Given the description of an element on the screen output the (x, y) to click on. 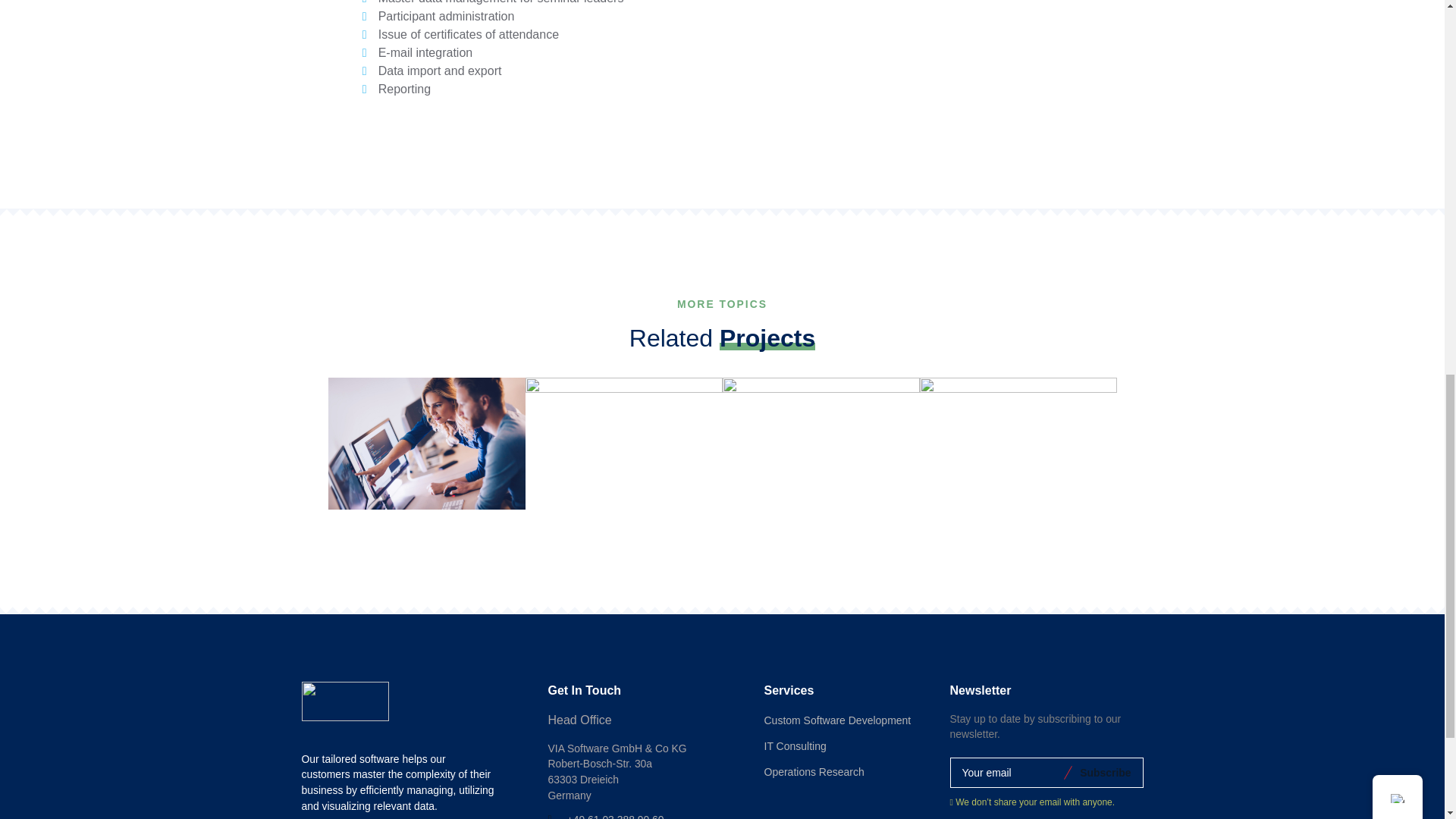
Subscribe (1102, 772)
Custom Software Development (837, 720)
IT Consulting (795, 746)
Operations Research (814, 772)
